Given the description of an element on the screen output the (x, y) to click on. 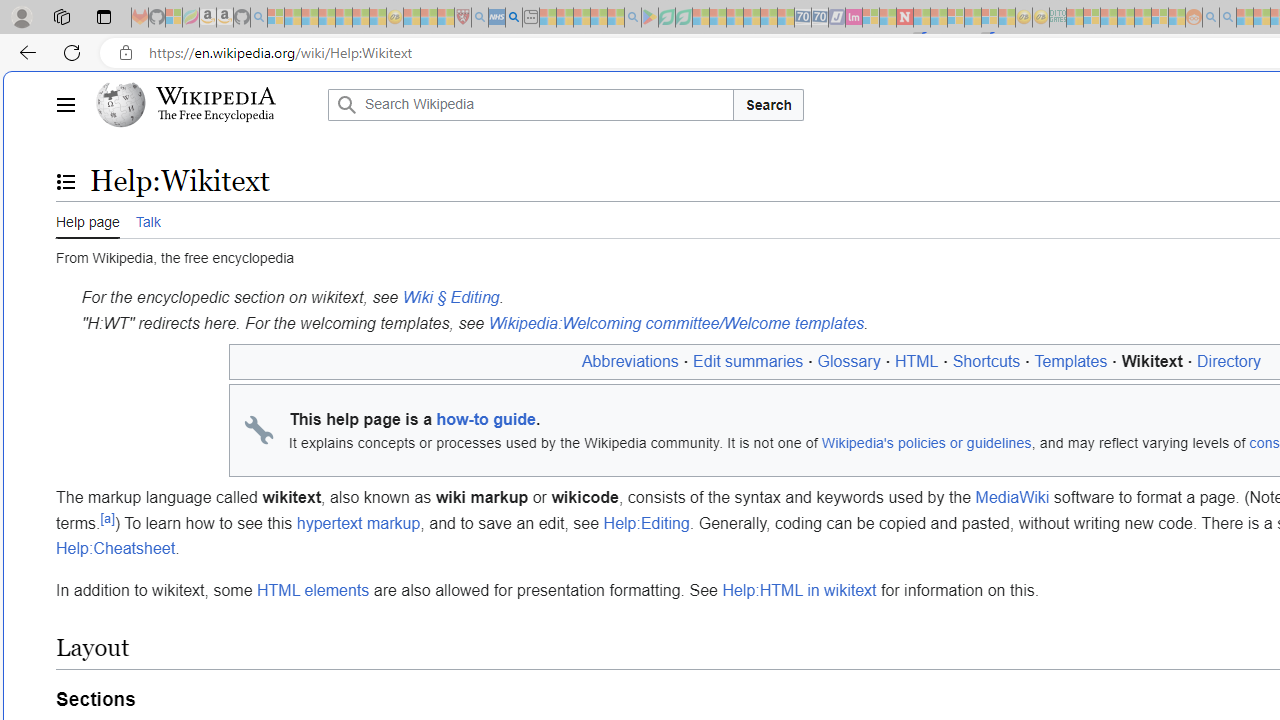
Bluey: Let's Play! - Apps on Google Play - Sleeping (649, 17)
Robert H. Shmerling, MD - Harvard Health - Sleeping (462, 17)
Toggle the table of contents (65, 181)
Cheap Car Rentals - Save70.com - Sleeping (802, 17)
Microsoft-Report a Concern to Bing - Sleeping (173, 17)
Expert Portfolios - Sleeping (1125, 17)
Microsoft account | Privacy - Sleeping (1091, 17)
[a] (107, 517)
Templates (1071, 361)
Recipes - MSN - Sleeping (411, 17)
